Given the description of an element on the screen output the (x, y) to click on. 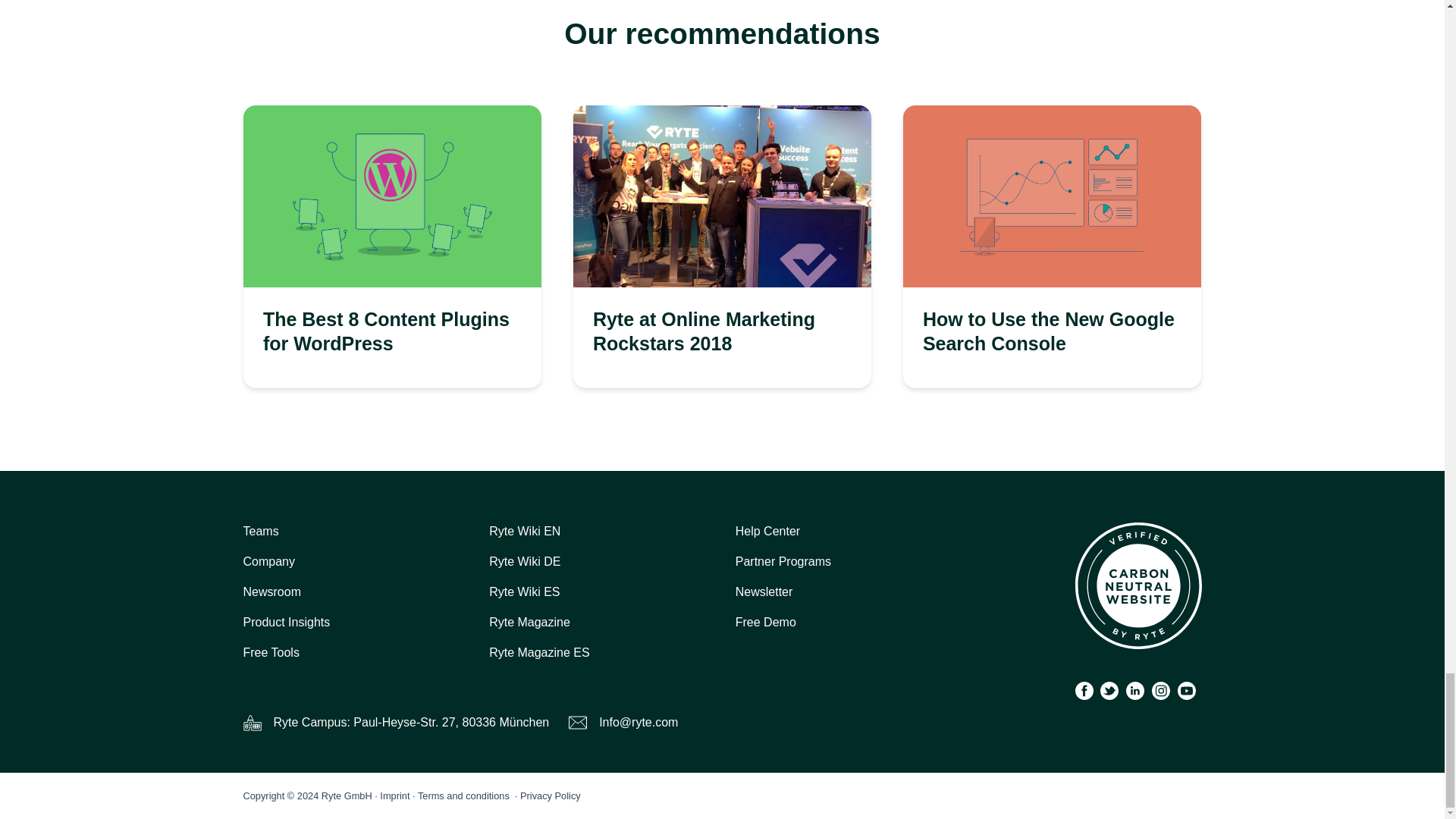
Youtube (1186, 690)
How to Use the New Google Search Console (1051, 196)
Facebook (1084, 690)
Twitter (1109, 690)
Instagram (1160, 690)
Ryte at Online Marketing Rockstars 2018 (721, 196)
The Best 8 Content Plugins for WordPress (391, 196)
LinkedIn (1134, 690)
